Given the description of an element on the screen output the (x, y) to click on. 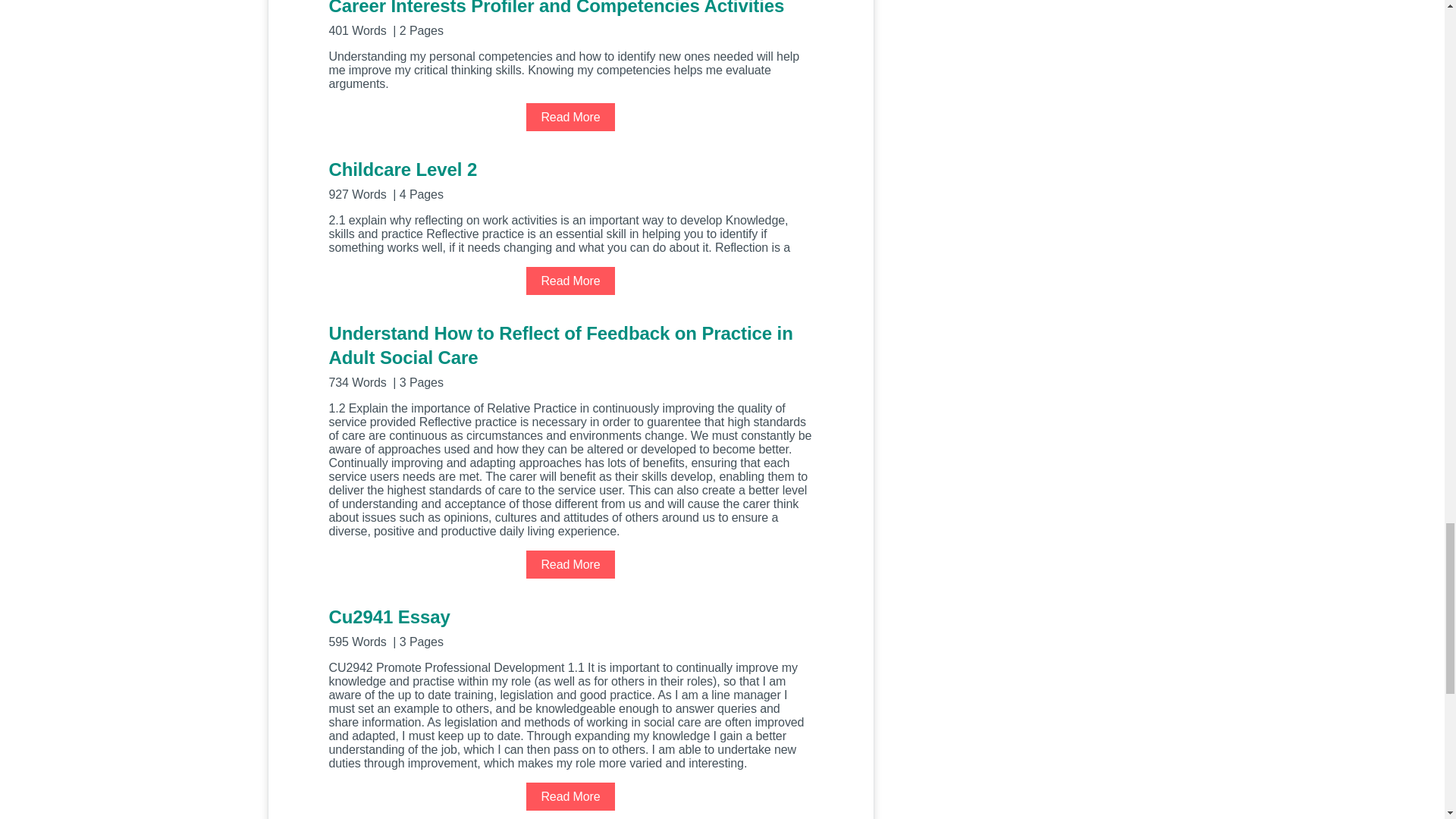
Career Interests Profiler and Competencies Activities (570, 18)
Read More (569, 564)
Childcare Level 2 (570, 179)
Read More (569, 796)
Read More (569, 280)
Read More (569, 117)
Cu2941 Essay (570, 626)
